Given the description of an element on the screen output the (x, y) to click on. 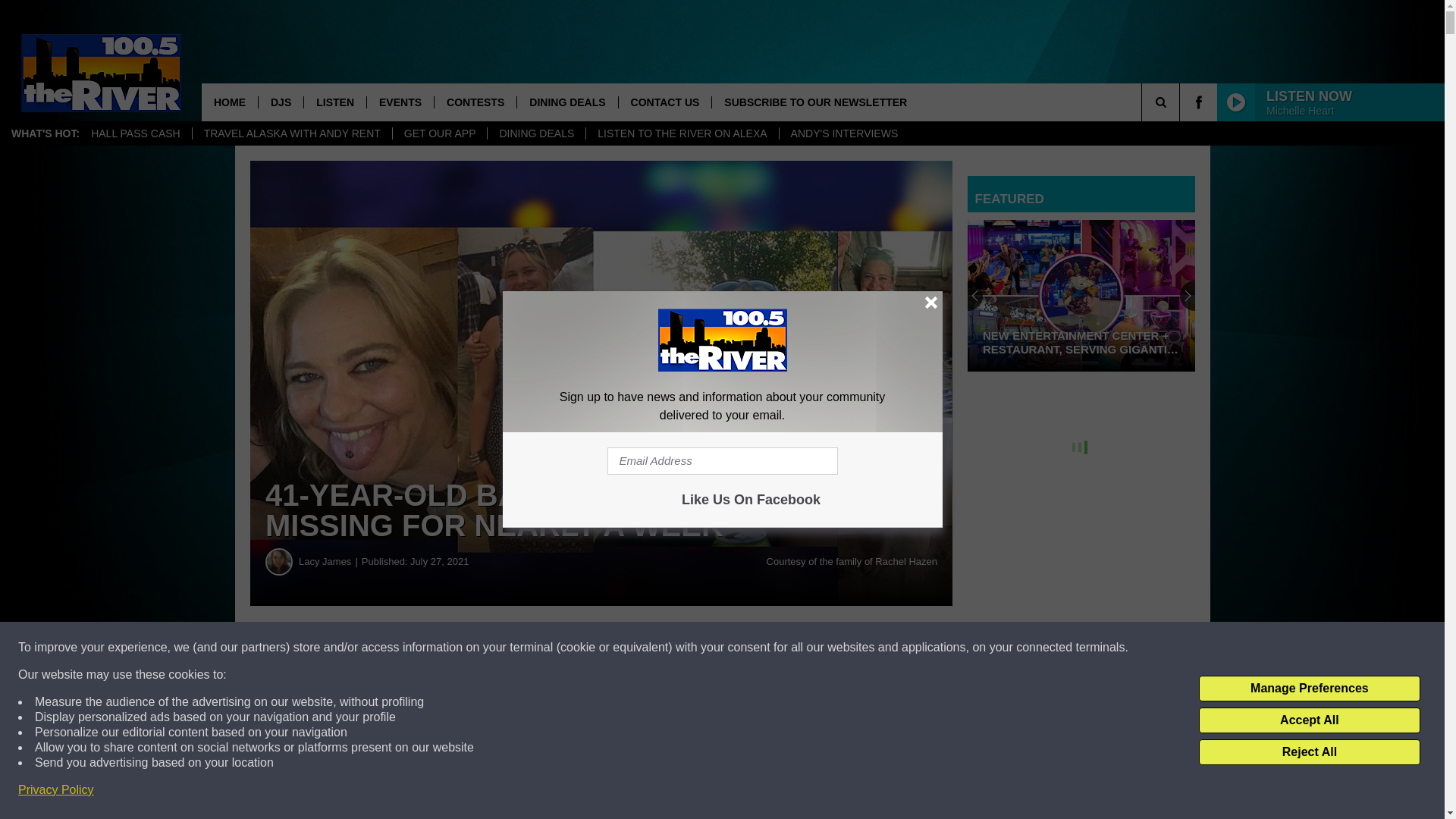
SEARCH (1182, 102)
HALL PASS CASH (136, 133)
Privacy Policy (55, 789)
CONTESTS (474, 102)
SUBSCRIBE TO OUR NEWSLETTER (814, 102)
Manage Preferences (1309, 688)
Share on Facebook (460, 647)
SEARCH (1182, 102)
GET OUR APP (439, 133)
Reject All (1309, 751)
DJS (279, 102)
Accept All (1309, 720)
DINING DEALS (535, 133)
LISTEN TO THE RIVER ON ALEXA (681, 133)
CONTACT US (664, 102)
